Given the description of an element on the screen output the (x, y) to click on. 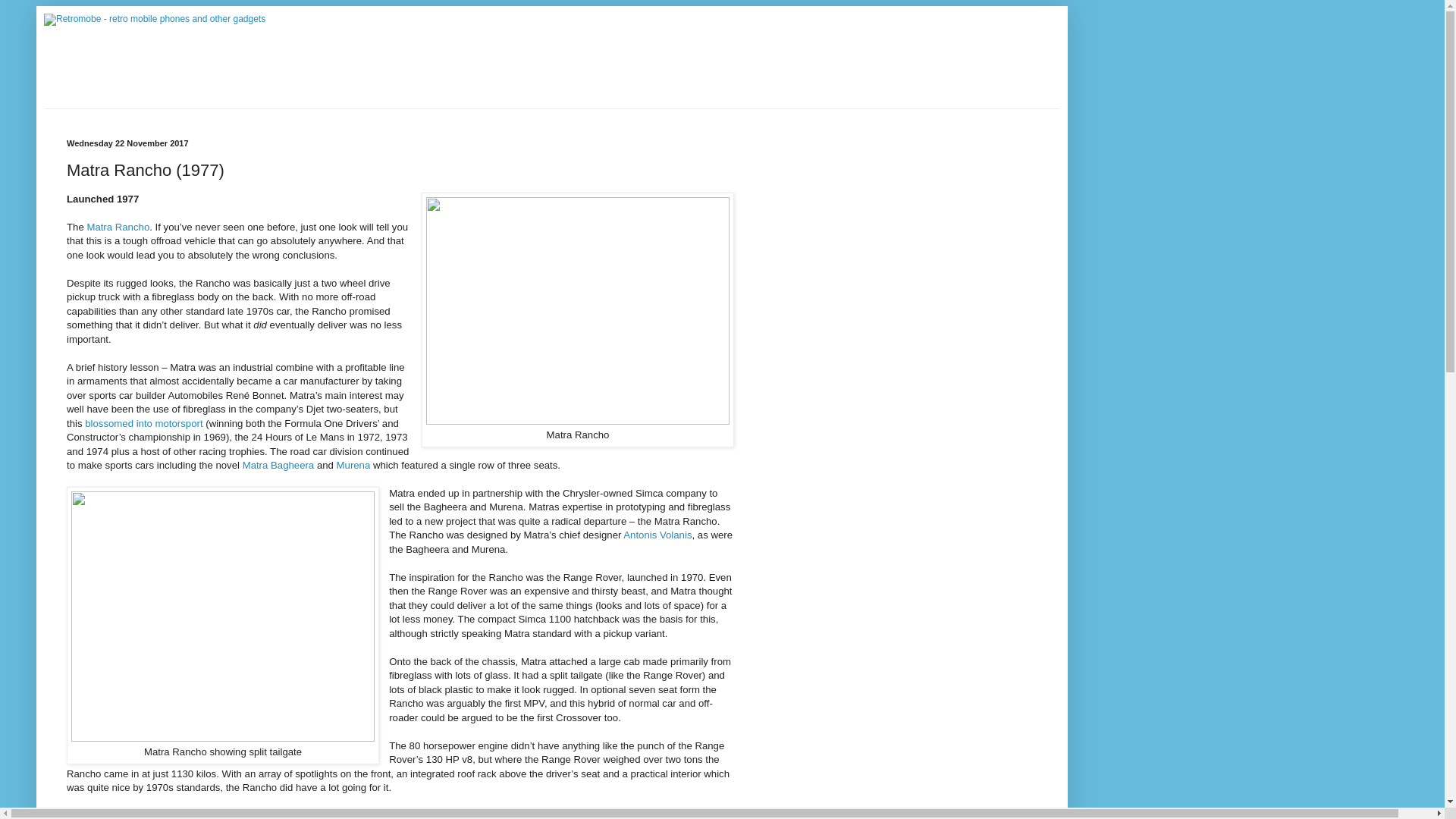
blossomed into motorsport (143, 423)
Matra Bagheera (278, 464)
Antonis Volanis (657, 534)
Matra Rancho (117, 226)
Murena (353, 464)
